Given the description of an element on the screen output the (x, y) to click on. 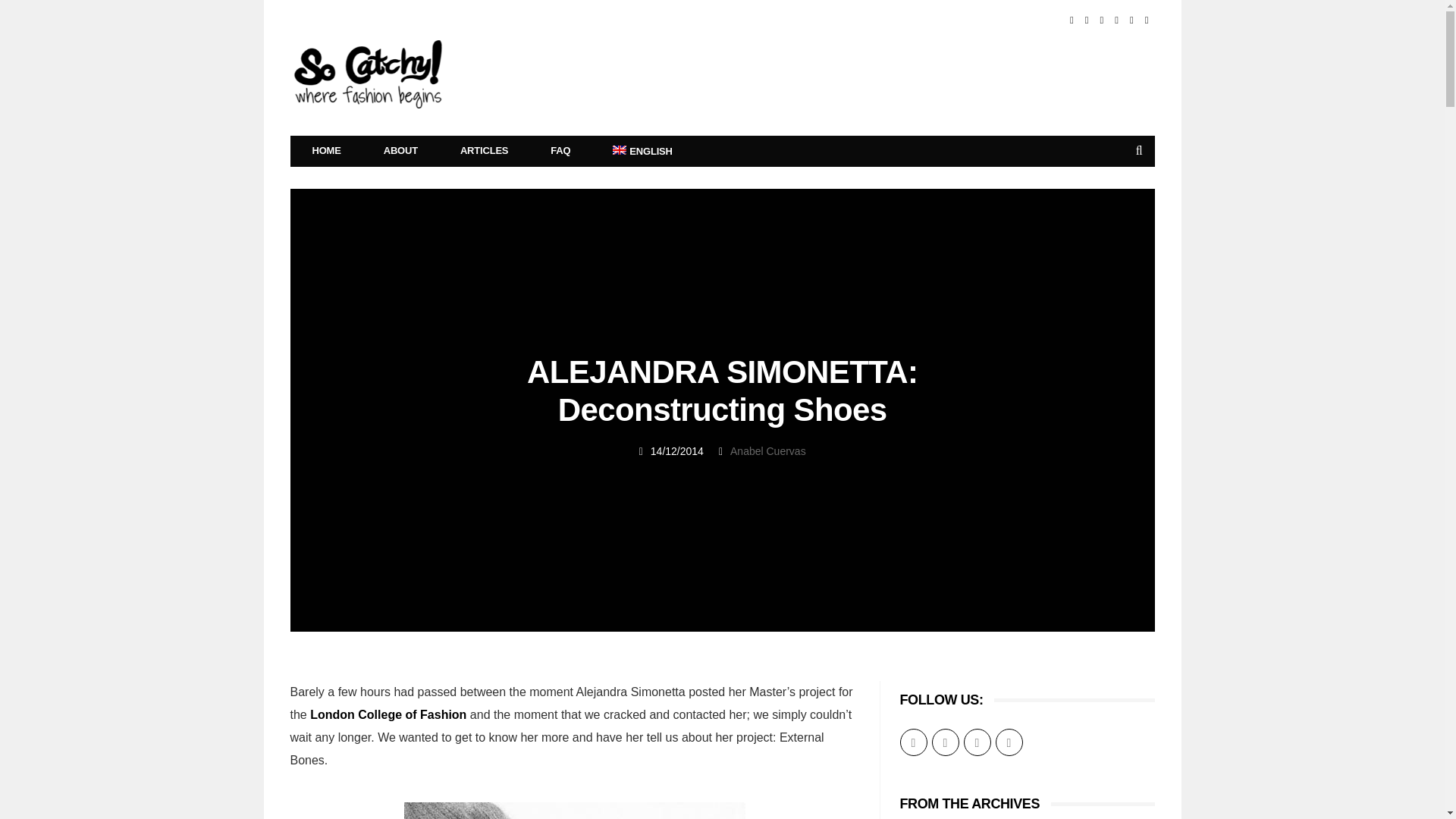
ENGLISH (642, 151)
Instagram (1146, 19)
Vimeo (1131, 19)
ARTICLES (484, 150)
London College of Fashion (387, 714)
Twitter (1086, 19)
London College of Fashion (387, 714)
English (642, 151)
Linkedin (1101, 19)
Anabel Cuervas (768, 451)
HOME (326, 150)
Facebook (1072, 19)
FAQ (560, 150)
ABOUT (400, 150)
